Given the description of an element on the screen output the (x, y) to click on. 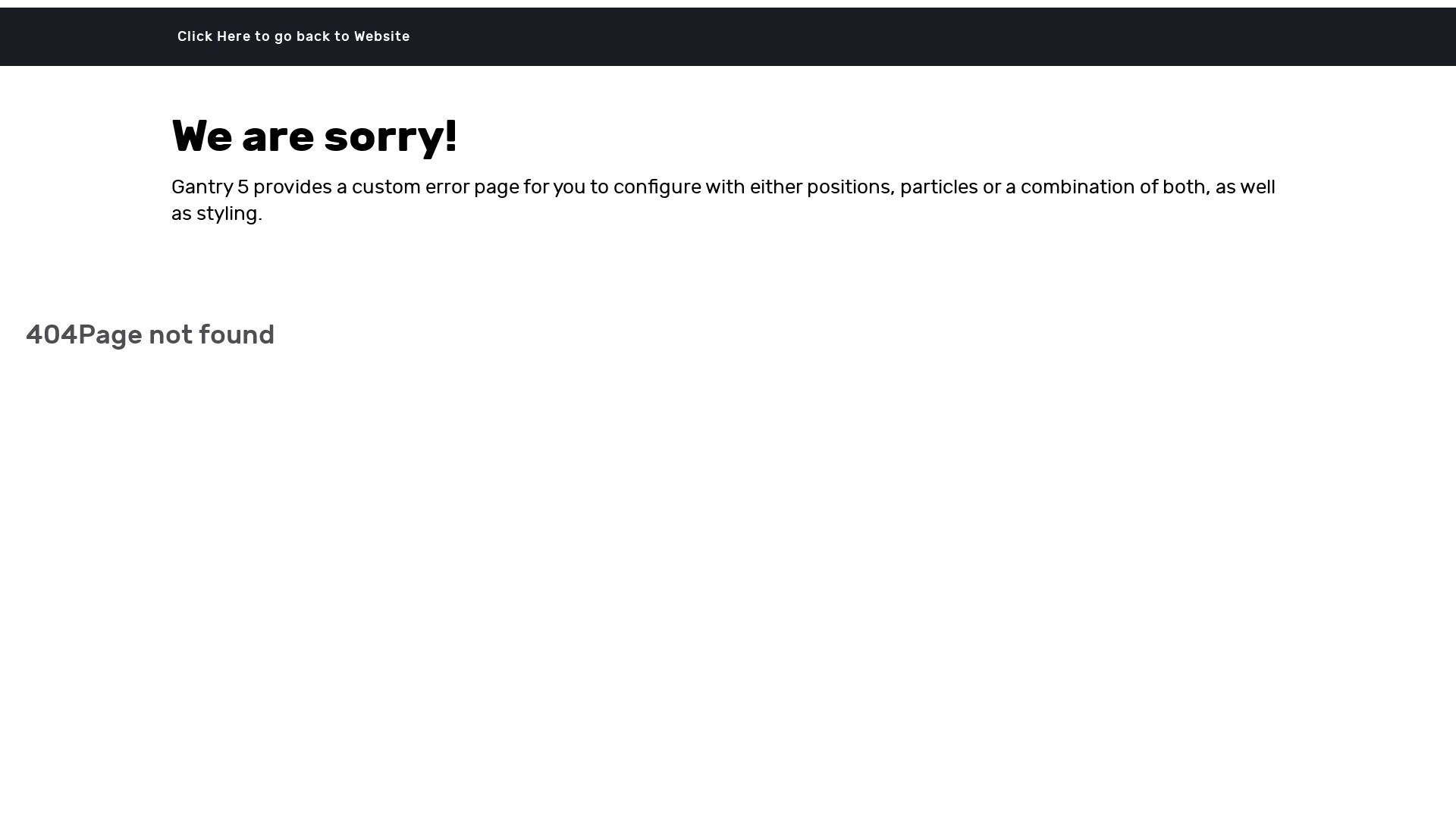
Click Here to go back to Website Element type: text (293, 36)
